Given the description of an element on the screen output the (x, y) to click on. 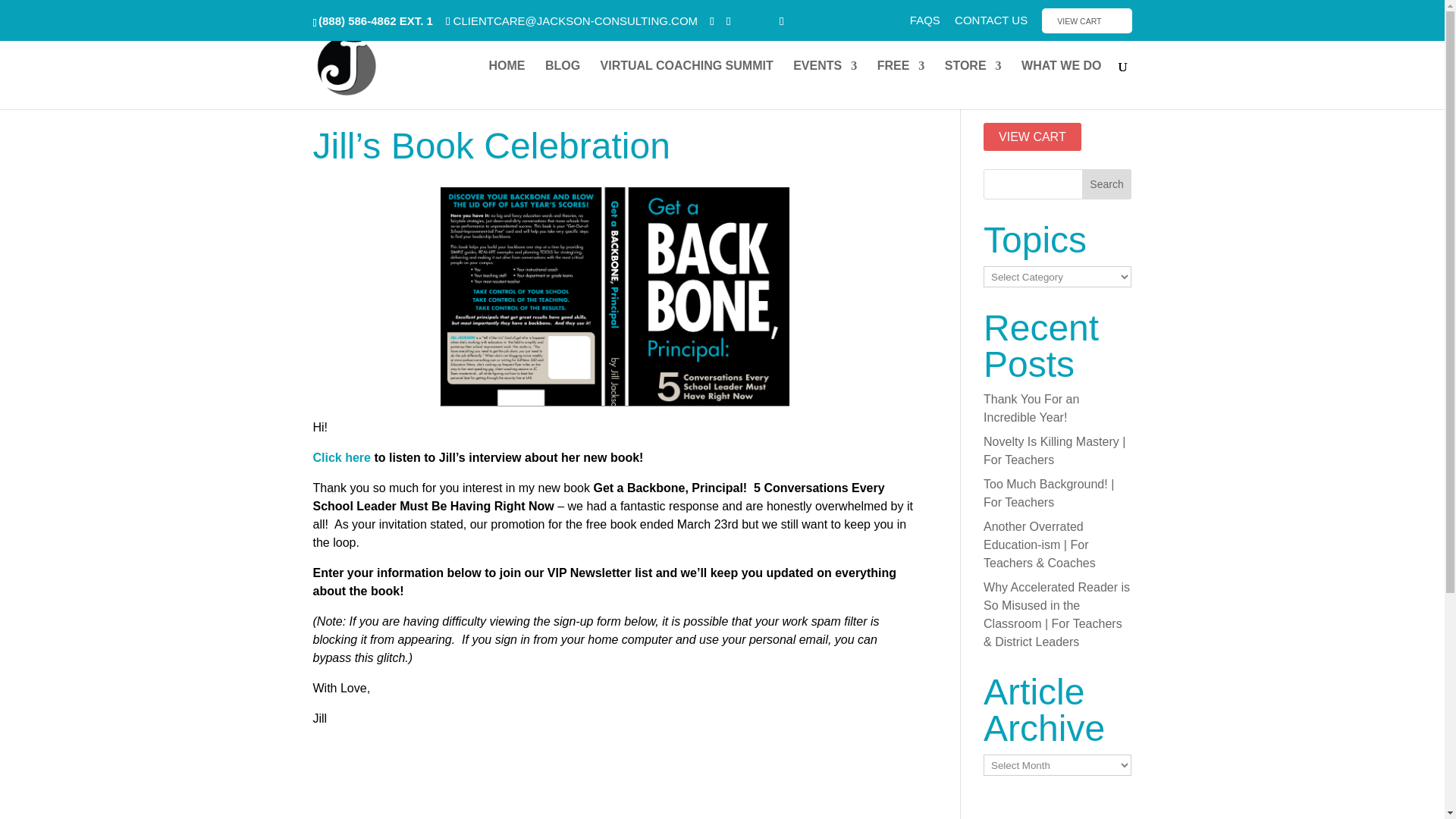
FREE (900, 84)
EVENTS (825, 84)
WHAT WE DO (1061, 84)
Search (1106, 183)
VIEW CART (1086, 20)
CONTACT US (991, 24)
VIRTUAL COACHING SUMMIT (686, 84)
STORE (972, 84)
FAQS (925, 24)
